Given the description of an element on the screen output the (x, y) to click on. 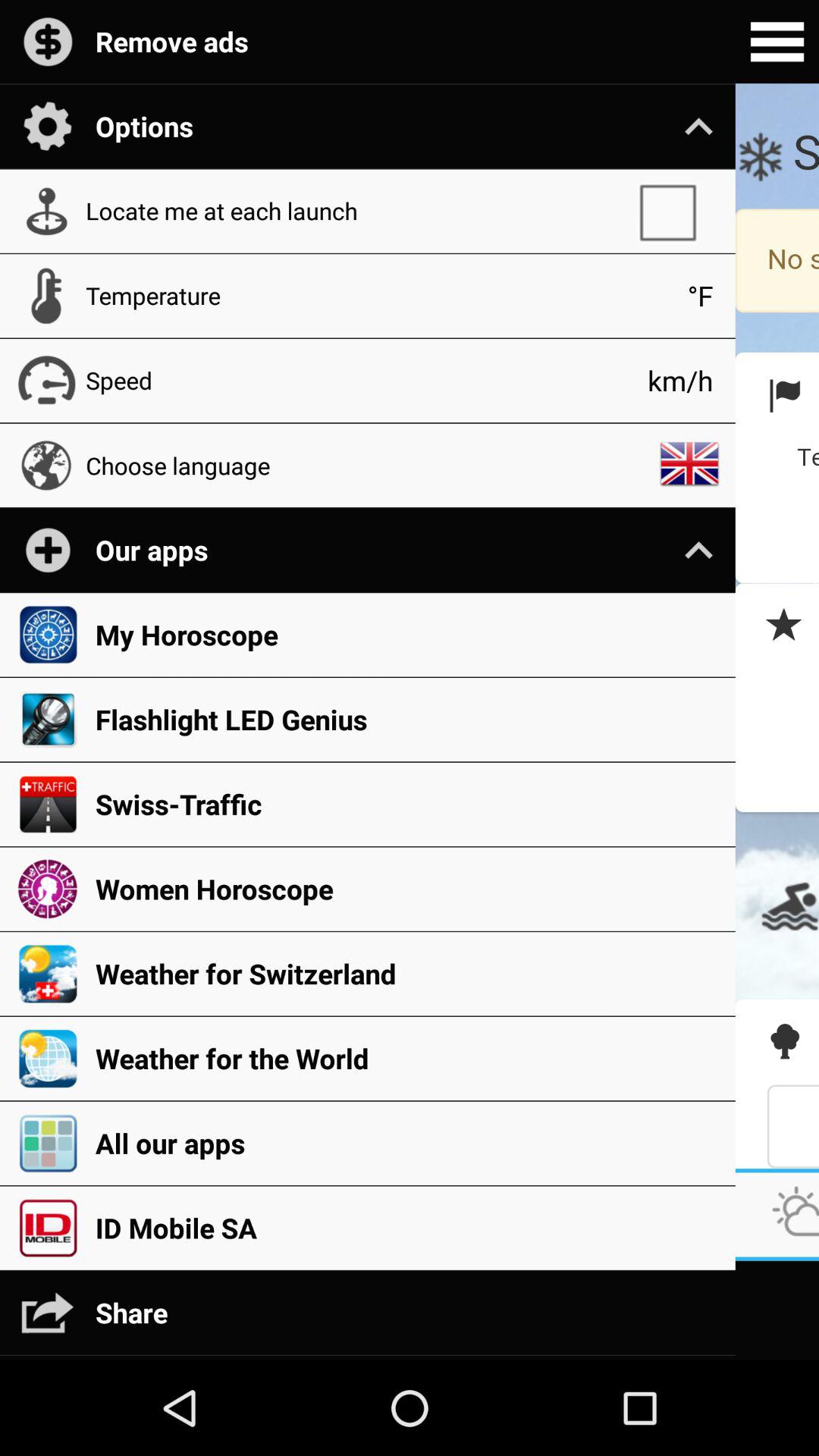
return to app (777, 625)
